Given the description of an element on the screen output the (x, y) to click on. 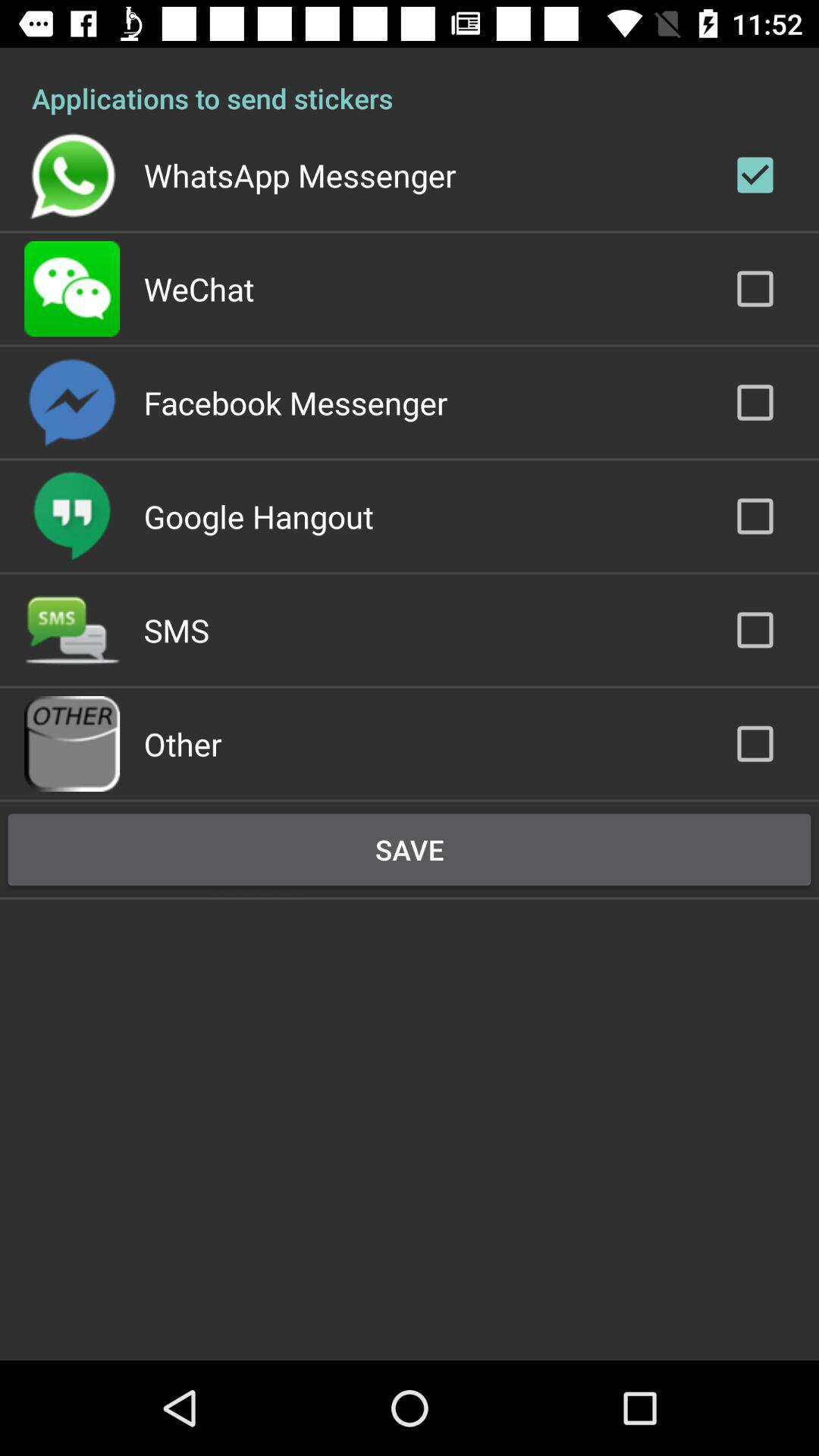
swipe until sms app (176, 629)
